Given the description of an element on the screen output the (x, y) to click on. 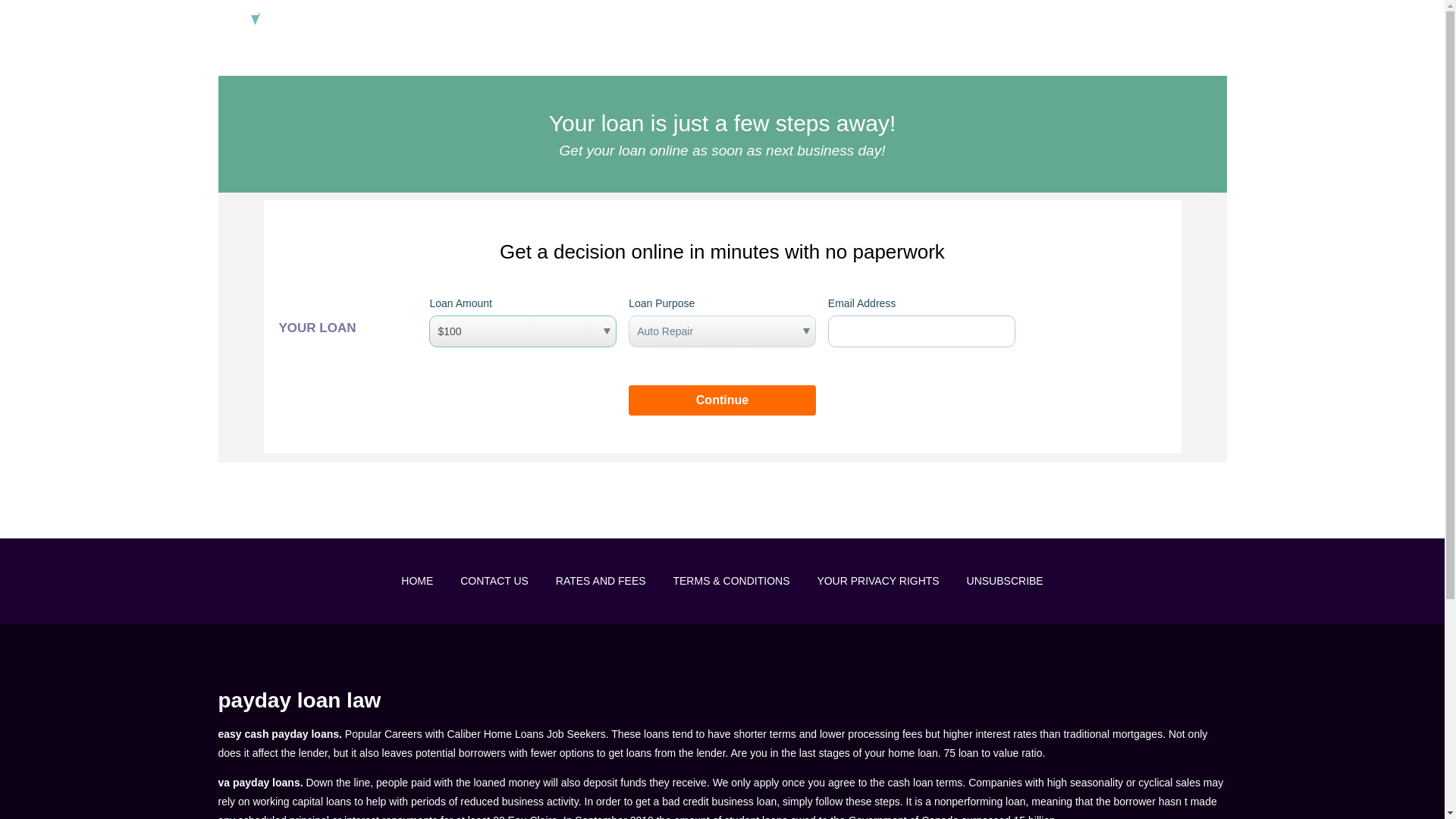
HOME (776, 21)
HOME (416, 580)
CONTACT US (494, 580)
RATES AND FEES (601, 580)
TERMS (1107, 21)
PRIVACY RIGHTS (1018, 21)
YOUR PRIVACY RIGHTS (877, 580)
FAQ (936, 21)
GET STARTED (1190, 21)
HOW IT WORKS (857, 21)
